Given the description of an element on the screen output the (x, y) to click on. 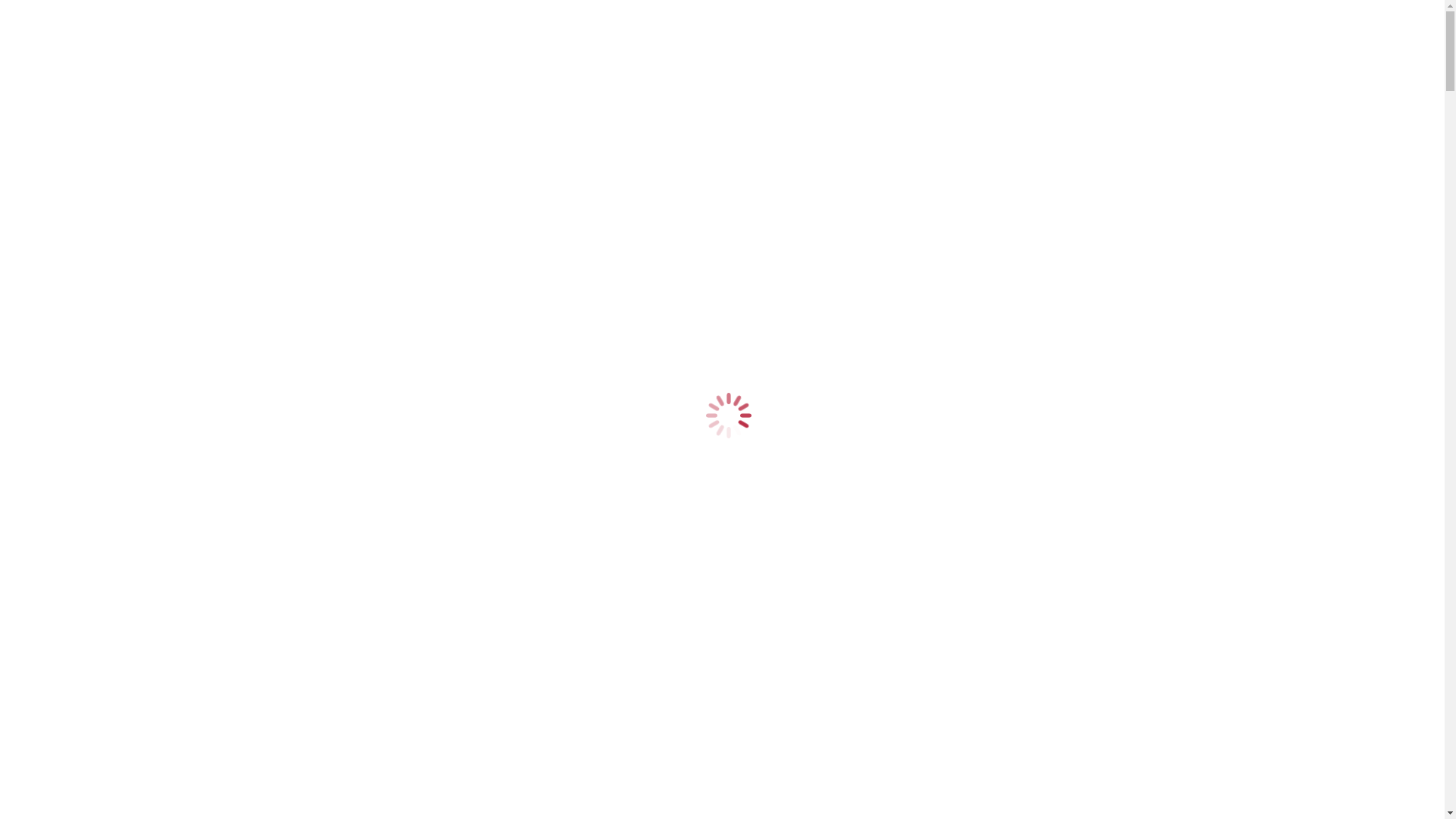
Legal Team Element type: text (94, 495)
Business & Commercial Law Element type: text (138, 196)
Conveyancing & Property Law Element type: text (142, 413)
Feb182019 Element type: text (33, 702)
Wills and Estates Element type: text (108, 223)
Contact Us Element type: text (63, 549)
Home Element type: text (50, 649)
Leases & Tenancies Element type: text (114, 264)
Wills and Estates Element type: text (77, 663)
Services Element type: text (56, 385)
Wills and Estates Element type: text (108, 426)
Testimonials Element type: text (67, 536)
Conveyancing Team Element type: text (116, 305)
Home Element type: text (50, 372)
Our Team Element type: text (60, 278)
Linkedin page opens in new window Element type: text (626, 39)
Twitter page opens in new window Element type: text (272, 39)
Legal Team Element type: text (94, 291)
Business & Commercial Law Element type: text (138, 399)
Our Team Element type: text (60, 481)
Associations, Clubs & Co-operatives Element type: text (156, 237)
Leases & Tenancies Element type: text (114, 467)
Franchising & Distribution Agreements Element type: text (162, 250)
Testimonials Element type: text (67, 332)
Contact Us Element type: text (63, 346)
Skip to content Element type: text (42, 12)
YouTube page opens in new window Element type: text (447, 39)
Conveyancing Team Element type: text (116, 508)
Home Element type: text (50, 169)
07 5495 1499 Element type: text (39, 25)
Conveyancing & Property Law Element type: text (142, 209)
Facebook page opens in new window Element type: text (97, 39)
Franchising & Distribution Agreements Element type: text (162, 454)
Admin Team Element type: text (97, 522)
Services Element type: text (56, 182)
Admin Team Element type: text (97, 319)
Associations, Clubs & Co-operatives Element type: text (156, 440)
